Given the description of an element on the screen output the (x, y) to click on. 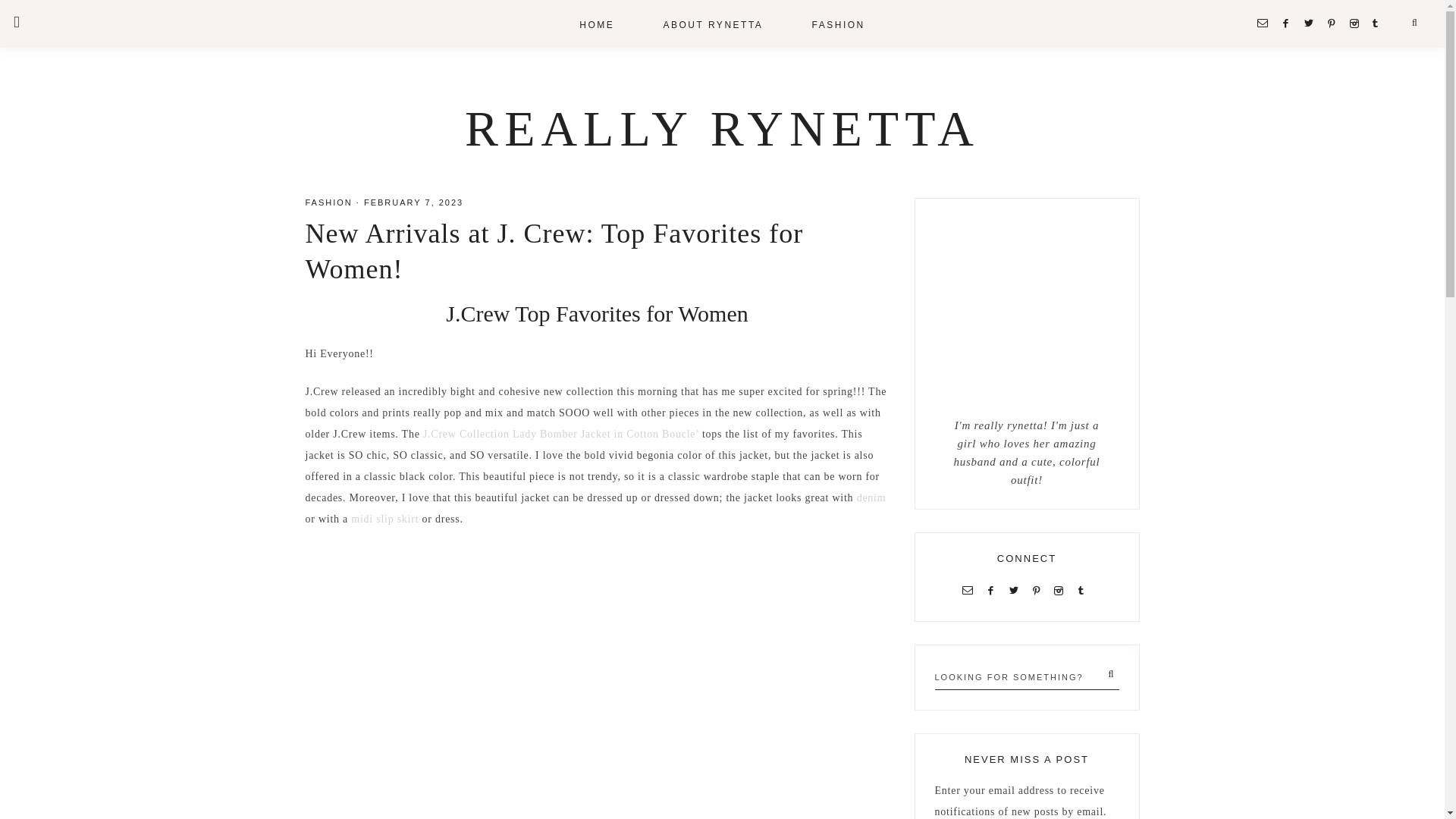
FASHION (838, 23)
Instagram (1061, 590)
midi slip skirt (384, 518)
REALLY RYNETTA (721, 128)
ABOUT RYNETTA (713, 23)
Email Me (970, 590)
Twitter (1312, 23)
Pinterest (1039, 590)
Twitter (1016, 590)
